Given the description of an element on the screen output the (x, y) to click on. 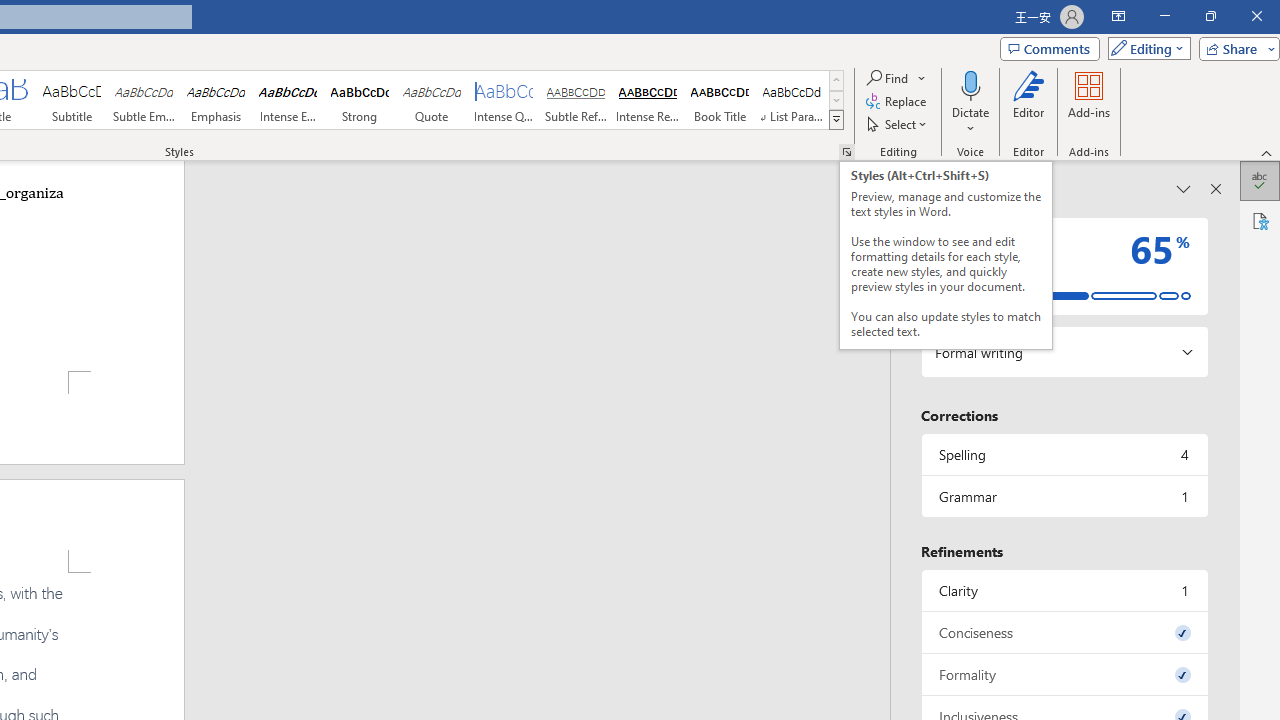
Class: NetUIImage (836, 119)
Select (898, 124)
Find (896, 78)
Comments (1049, 48)
Quote (431, 100)
Strong (359, 100)
Close pane (1215, 188)
Collapse the Ribbon (1267, 152)
Editor (1260, 180)
Subtitle (71, 100)
Minimize (1164, 16)
Emphasis (216, 100)
Subtle Emphasis (143, 100)
